Given the description of an element on the screen output the (x, y) to click on. 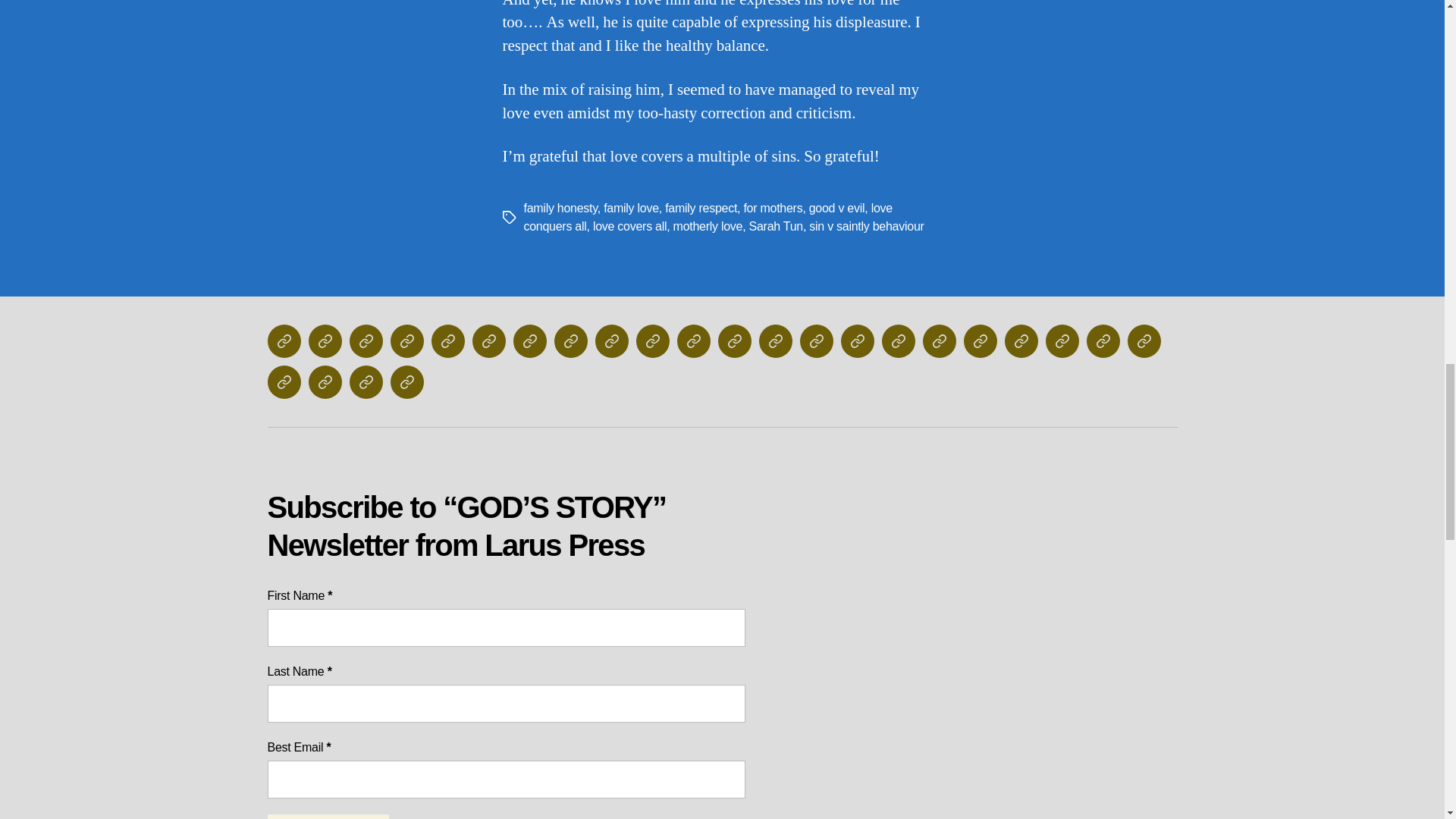
Subscribe! (327, 816)
Best Email (505, 779)
First Name (505, 628)
Last Name (505, 703)
